Given the description of an element on the screen output the (x, y) to click on. 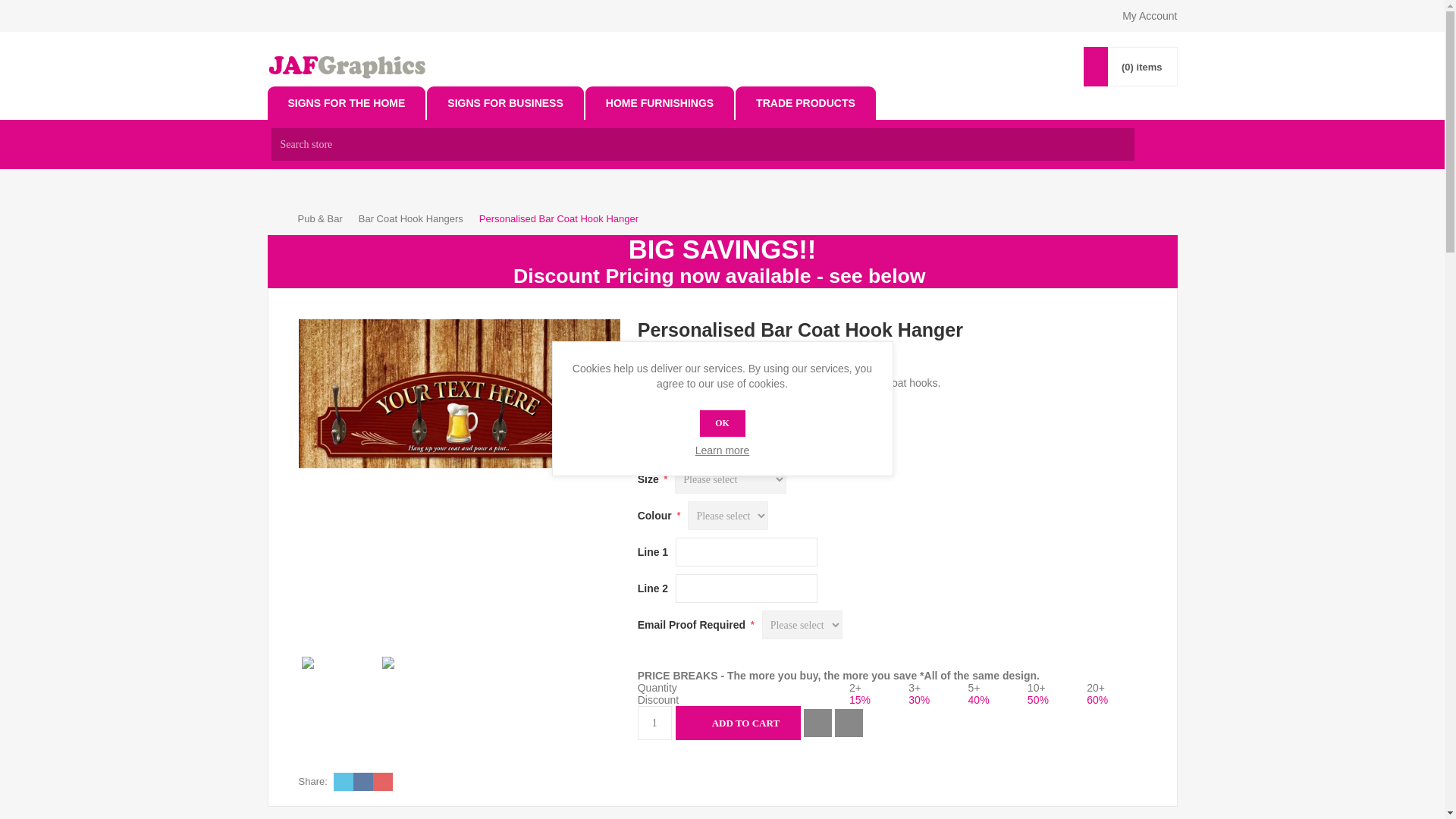
1 (654, 722)
SIGNS FOR THE HOME (345, 103)
Signs For Business (504, 103)
SIGNS FOR BUSINESS (504, 103)
TRADE PRODUCTS (805, 103)
Signs For The Home (345, 103)
HOME FURNISHINGS (659, 103)
